Given the description of an element on the screen output the (x, y) to click on. 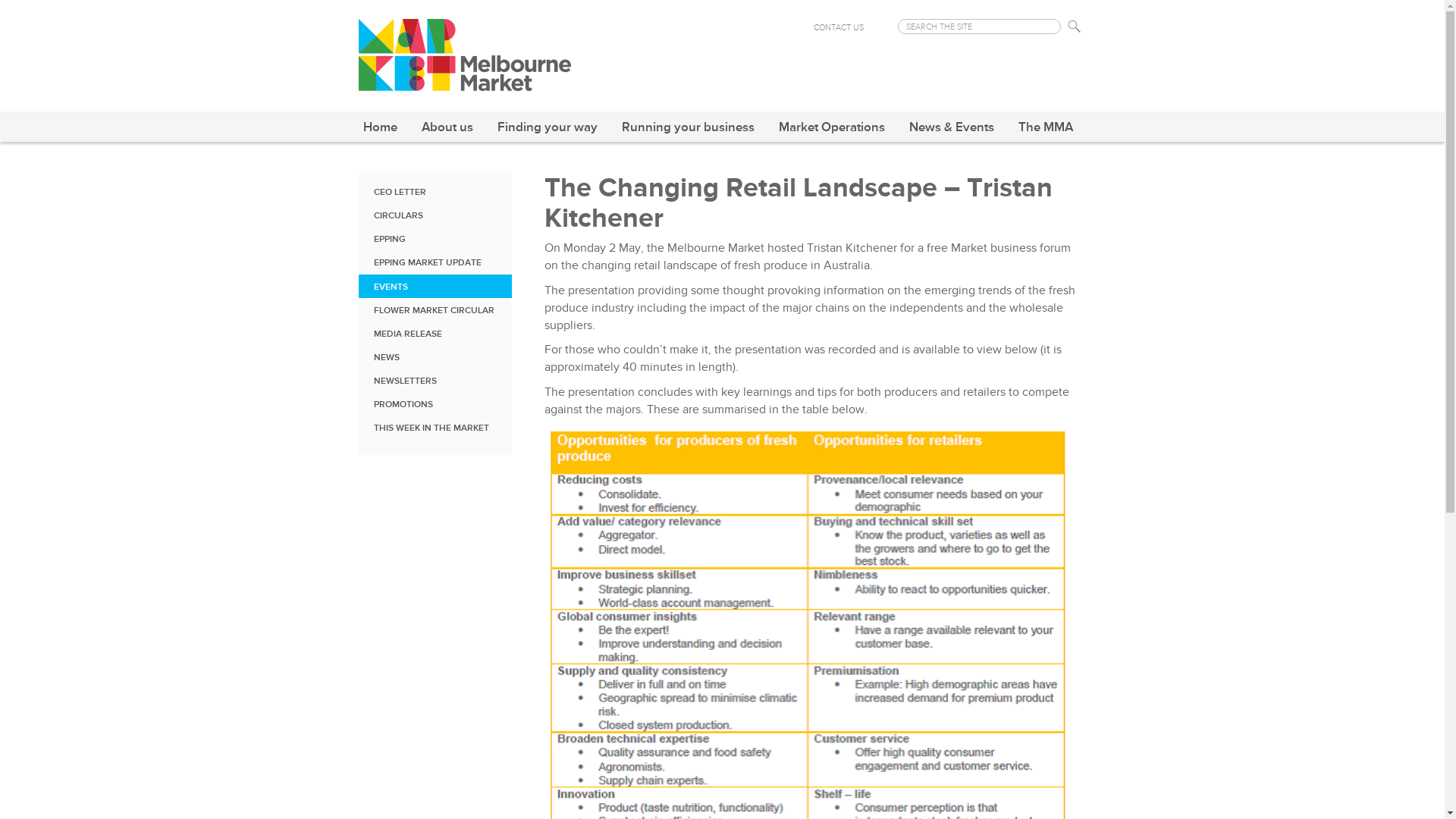
Home Element type: text (379, 126)
About us Element type: text (447, 126)
News & Events Element type: text (950, 126)
NEWS Element type: text (434, 356)
EVENTS Element type: text (434, 286)
MEDIA RELEASE Element type: text (434, 333)
EPPING Element type: text (434, 238)
PROMOTIONS Element type: text (434, 403)
Finding your way Element type: text (547, 126)
THIS WEEK IN THE MARKET Element type: text (434, 427)
CIRCULARS Element type: text (434, 214)
Running your business Element type: text (687, 126)
CONTACT US Element type: text (837, 26)
Search Element type: text (1074, 26)
EPPING MARKET UPDATE Element type: text (434, 261)
NEWSLETTERS Element type: text (434, 380)
CEO LETTER Element type: text (434, 191)
FLOWER MARKET CIRCULAR Element type: text (434, 309)
Market Operations Element type: text (830, 126)
The MMA Element type: text (1044, 126)
